Given the description of an element on the screen output the (x, y) to click on. 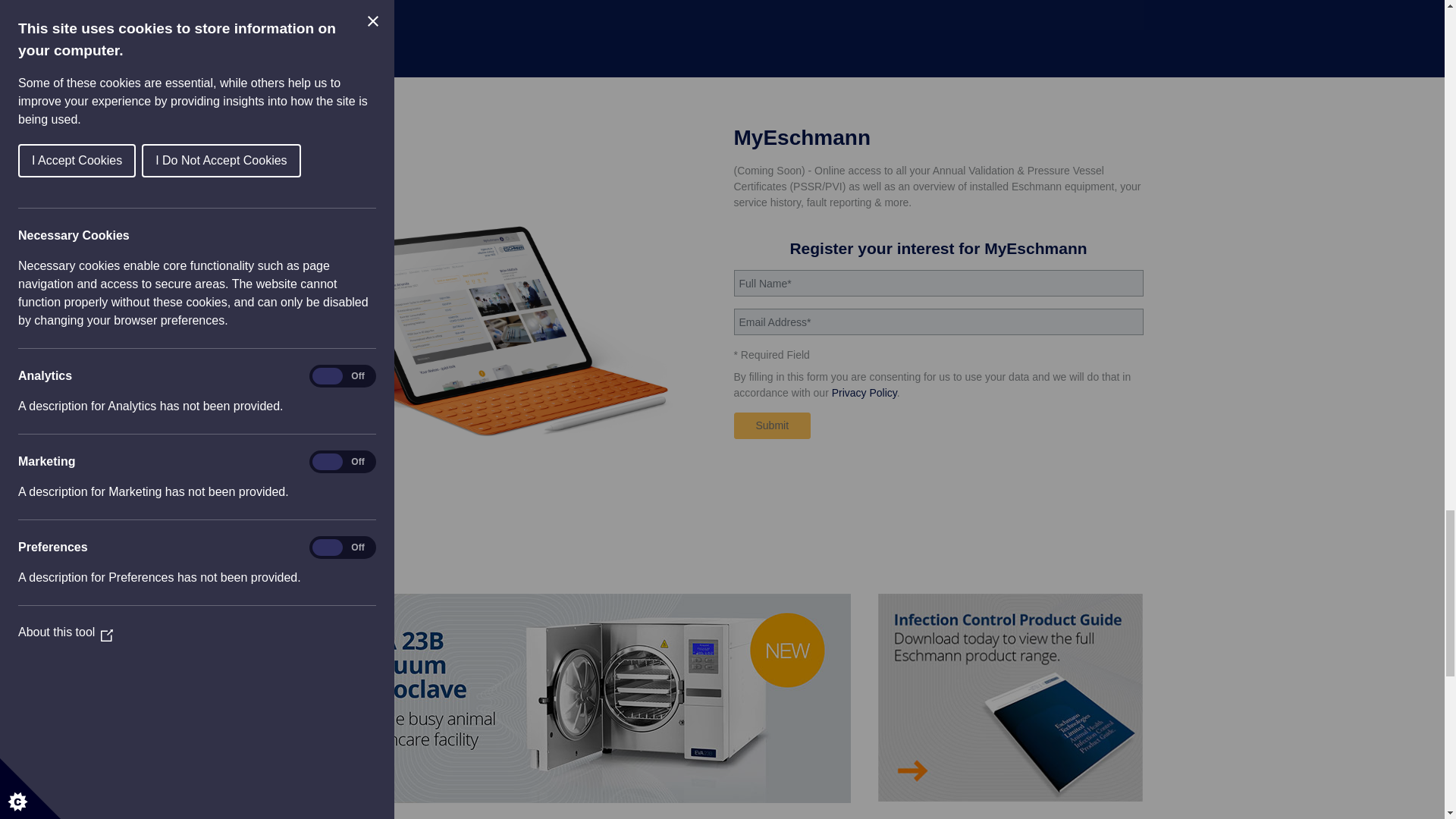
Submit (771, 425)
